Given the description of an element on the screen output the (x, y) to click on. 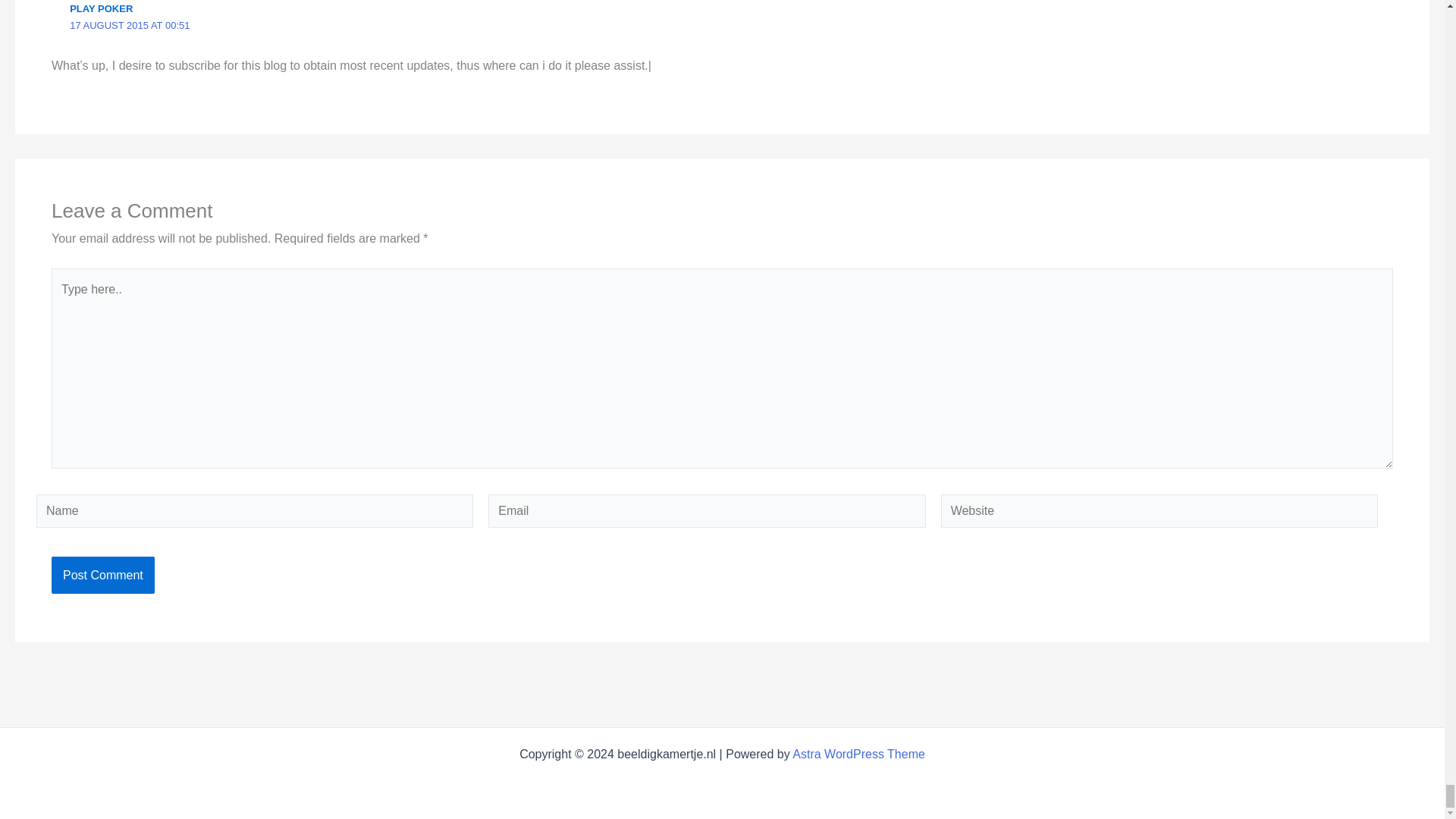
Post Comment (102, 575)
